Given the description of an element on the screen output the (x, y) to click on. 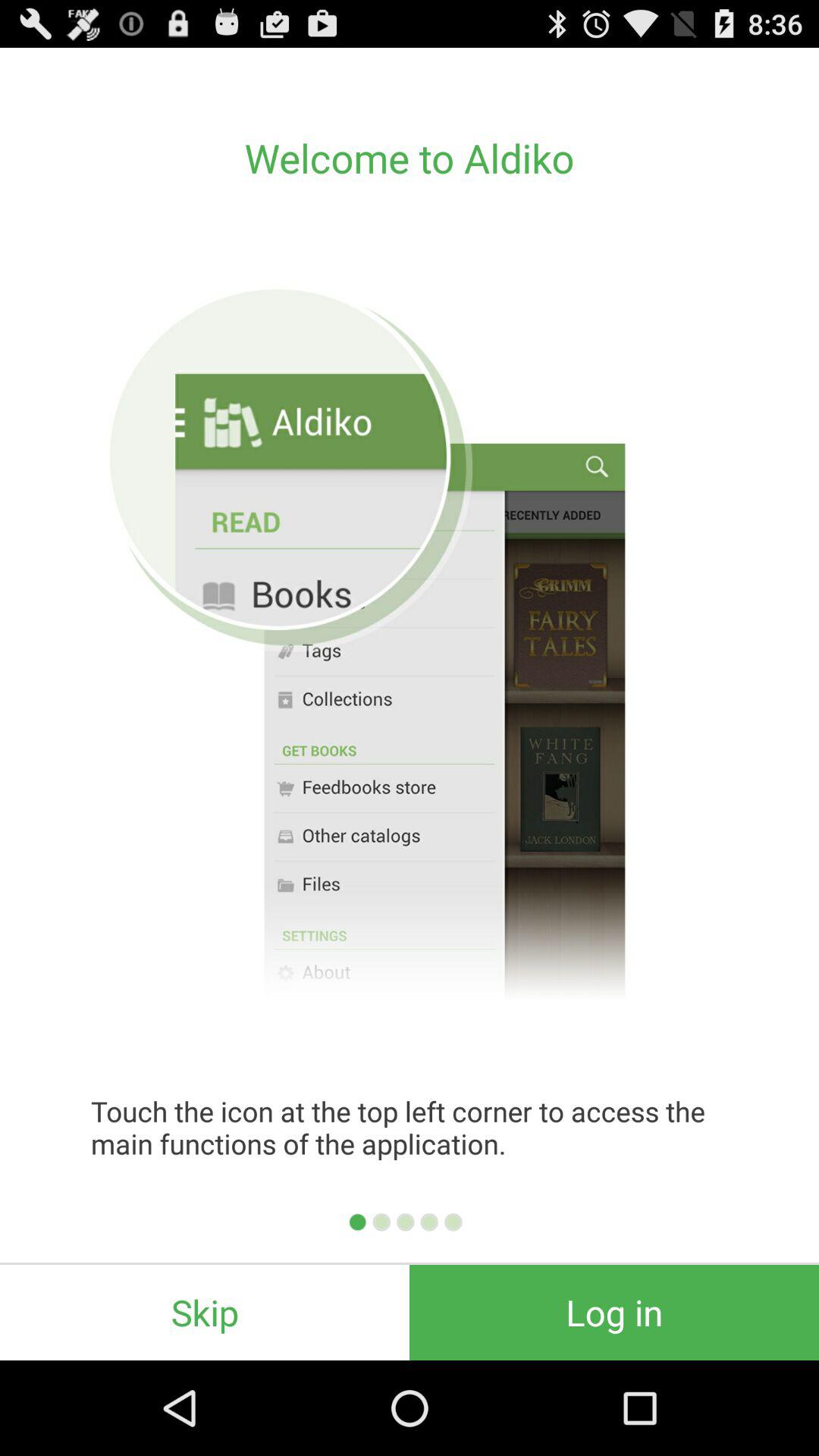
press the log in (614, 1312)
